Given the description of an element on the screen output the (x, y) to click on. 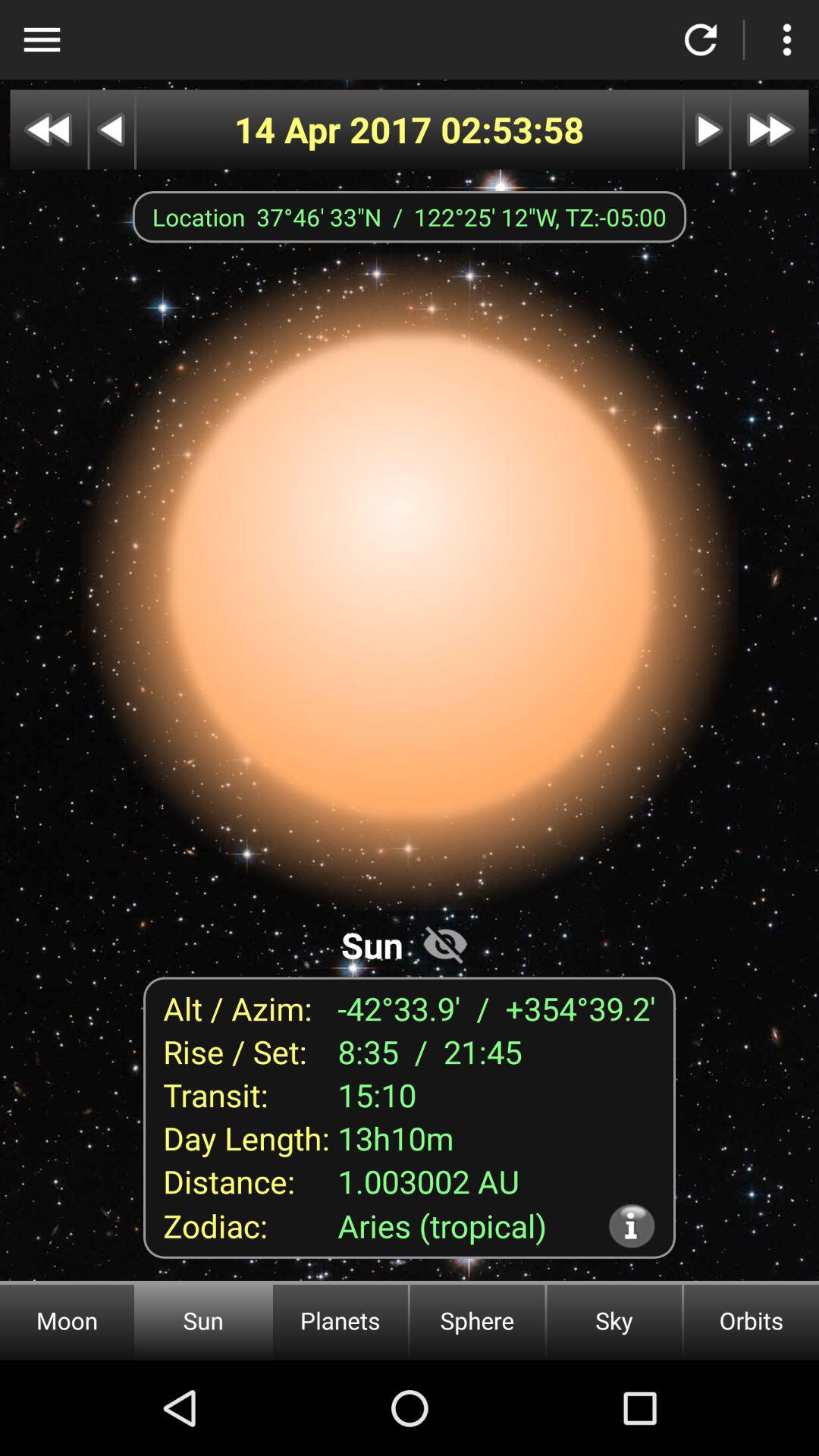
next page (706, 129)
